Given the description of an element on the screen output the (x, y) to click on. 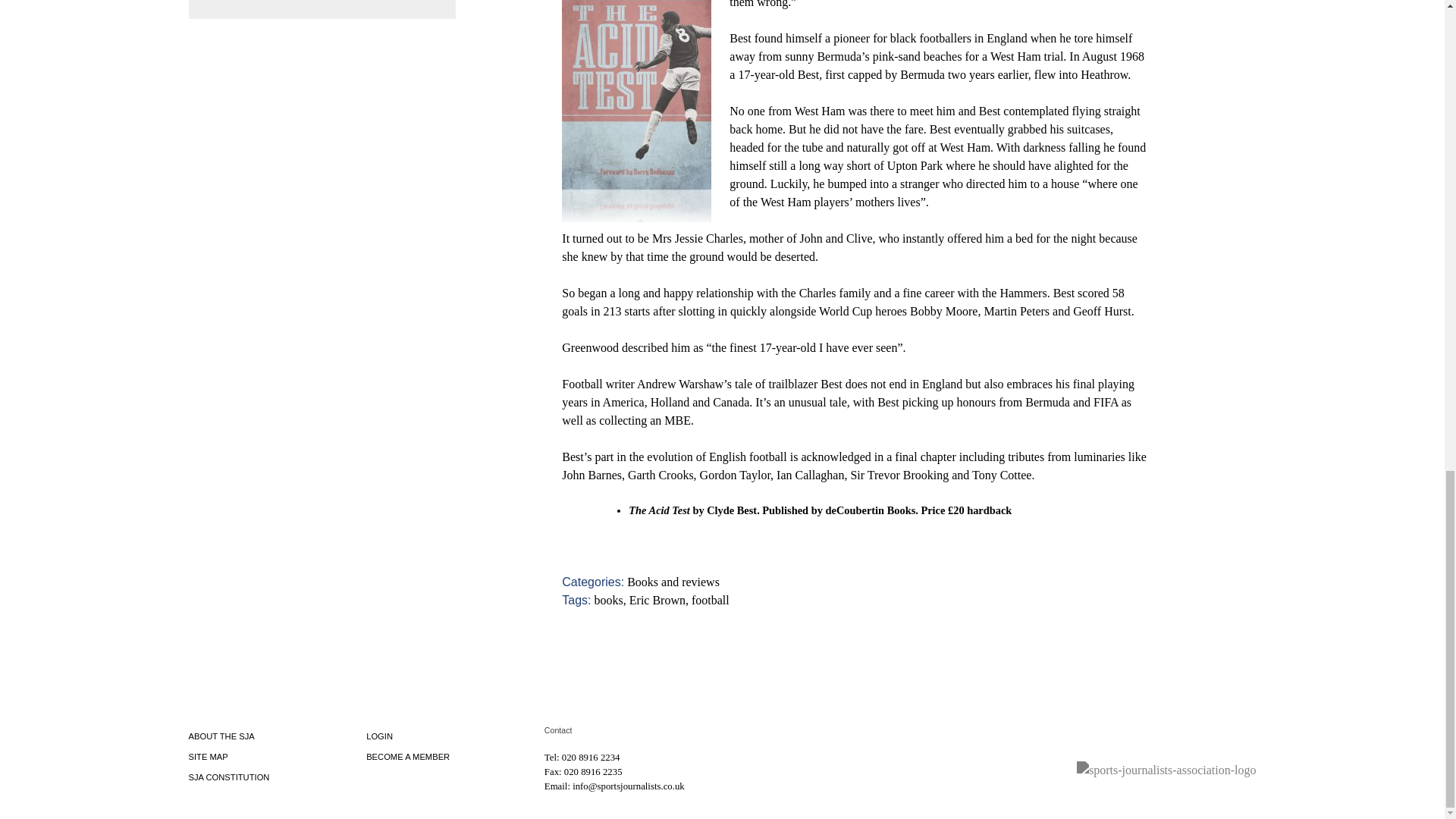
ABOUT THE SJA (220, 736)
SITE MAP (207, 756)
Eric Brown (656, 599)
Books and reviews (673, 581)
books (608, 599)
football (710, 599)
LOGIN (379, 736)
BECOME A MEMBER (407, 756)
SJA CONSTITUTION (228, 777)
